Given the description of an element on the screen output the (x, y) to click on. 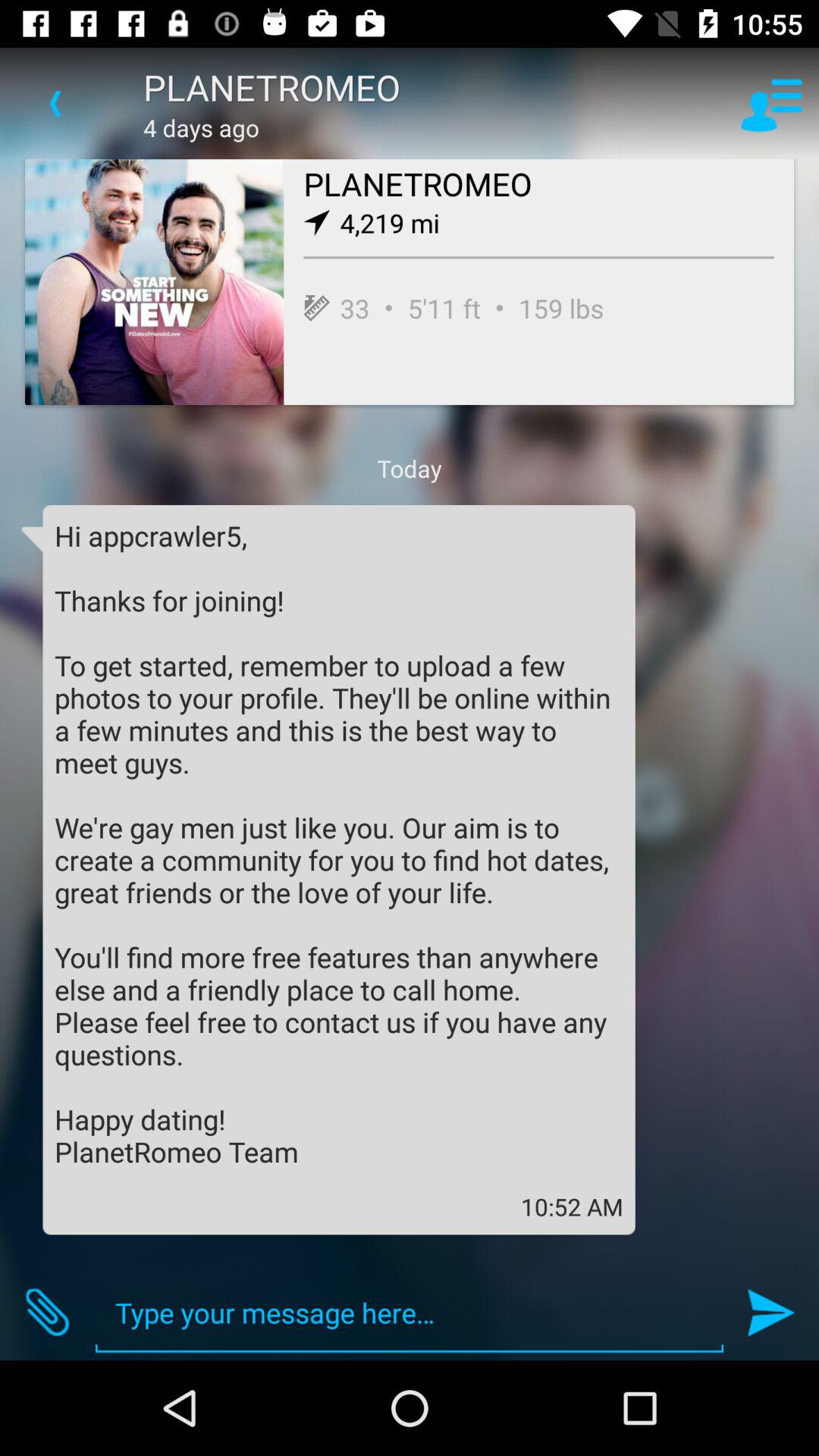
choose item next to the planetromeo item (55, 103)
